Given the description of an element on the screen output the (x, y) to click on. 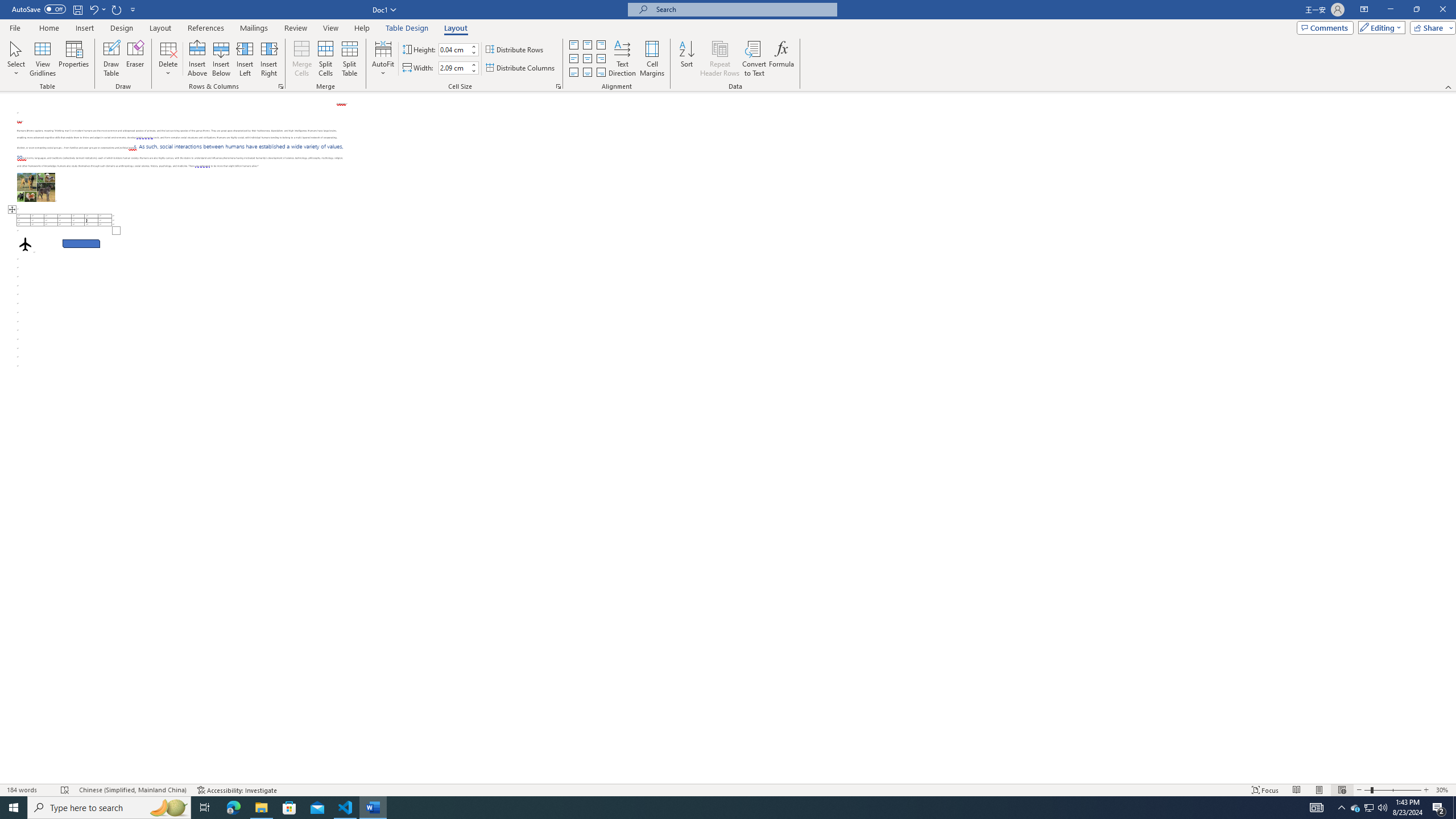
Airplane with solid fill (25, 243)
Align Bottom Center (587, 72)
Web Layout (1342, 790)
Focus  (1265, 790)
Editing (1379, 27)
Print Layout (1318, 790)
AutoSave (38, 9)
Collapse the Ribbon (1448, 86)
Undo Row Height Spinner (96, 9)
Eraser (135, 58)
Cell Margins... (652, 58)
Insert Below (220, 58)
Ribbon Display Options (1364, 9)
Align Bottom Right (601, 72)
